Given the description of an element on the screen output the (x, y) to click on. 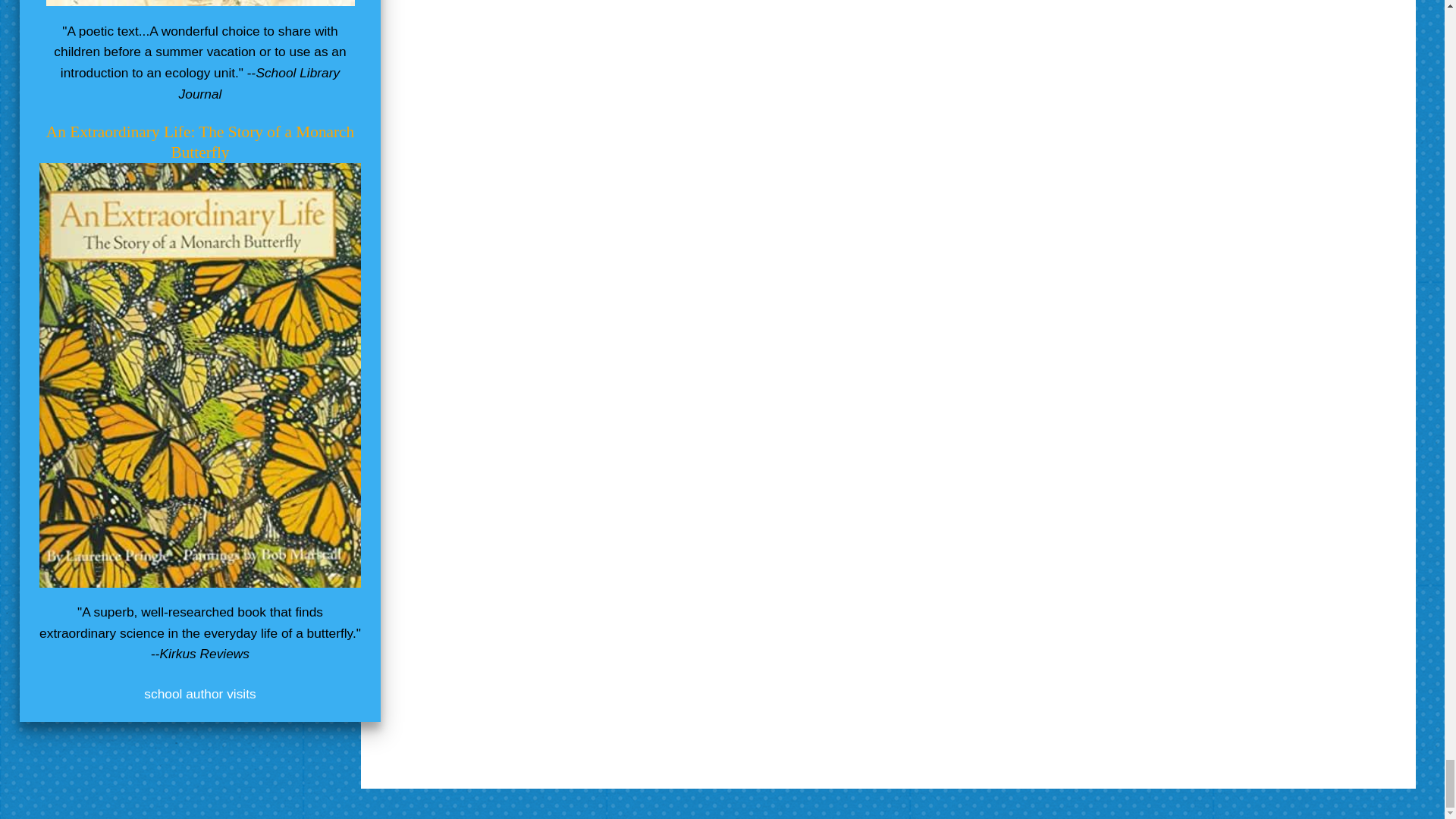
An Extraordinary Life: The Story of a Monarch Butterfly (200, 141)
